Given the description of an element on the screen output the (x, y) to click on. 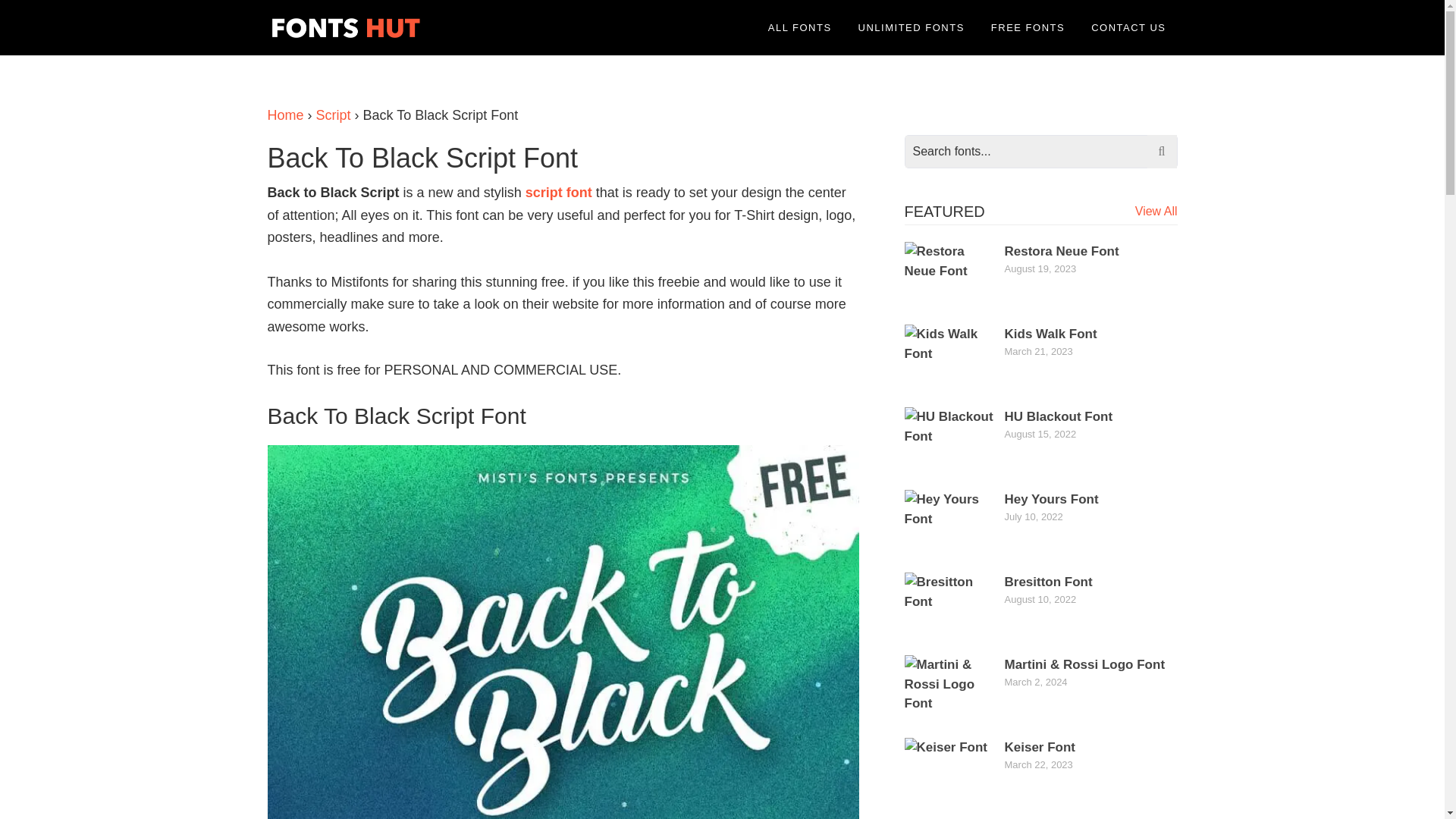
Home (284, 114)
FREE FONTS (1027, 27)
ALL FONTS (800, 27)
Script (332, 114)
CONTACT US (1128, 27)
script font (558, 192)
UNLIMITED FONTS (911, 27)
